Given the description of an element on the screen output the (x, y) to click on. 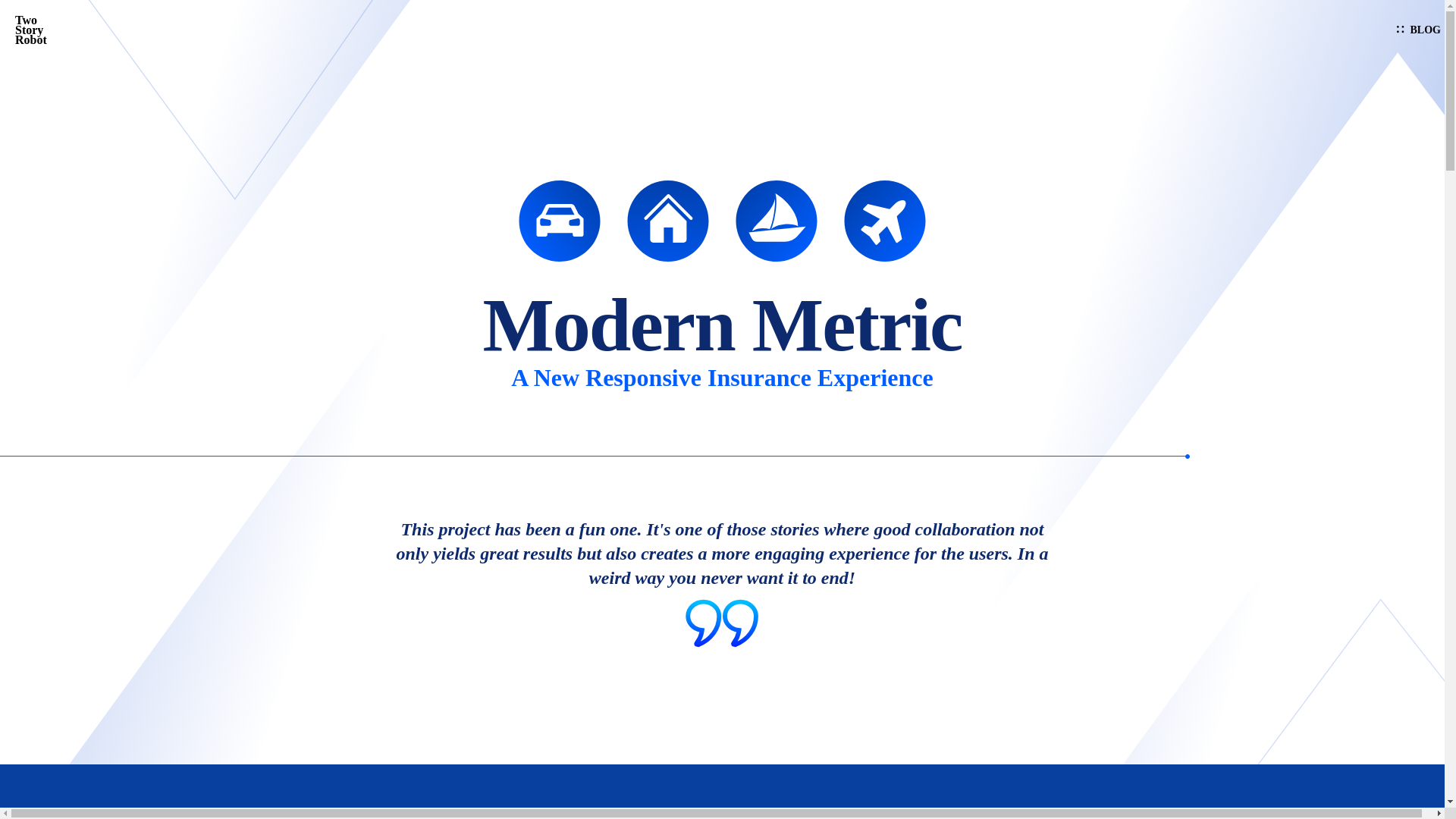
Two Story Robot (36, 30)
BLOG (1418, 30)
